Given the description of an element on the screen output the (x, y) to click on. 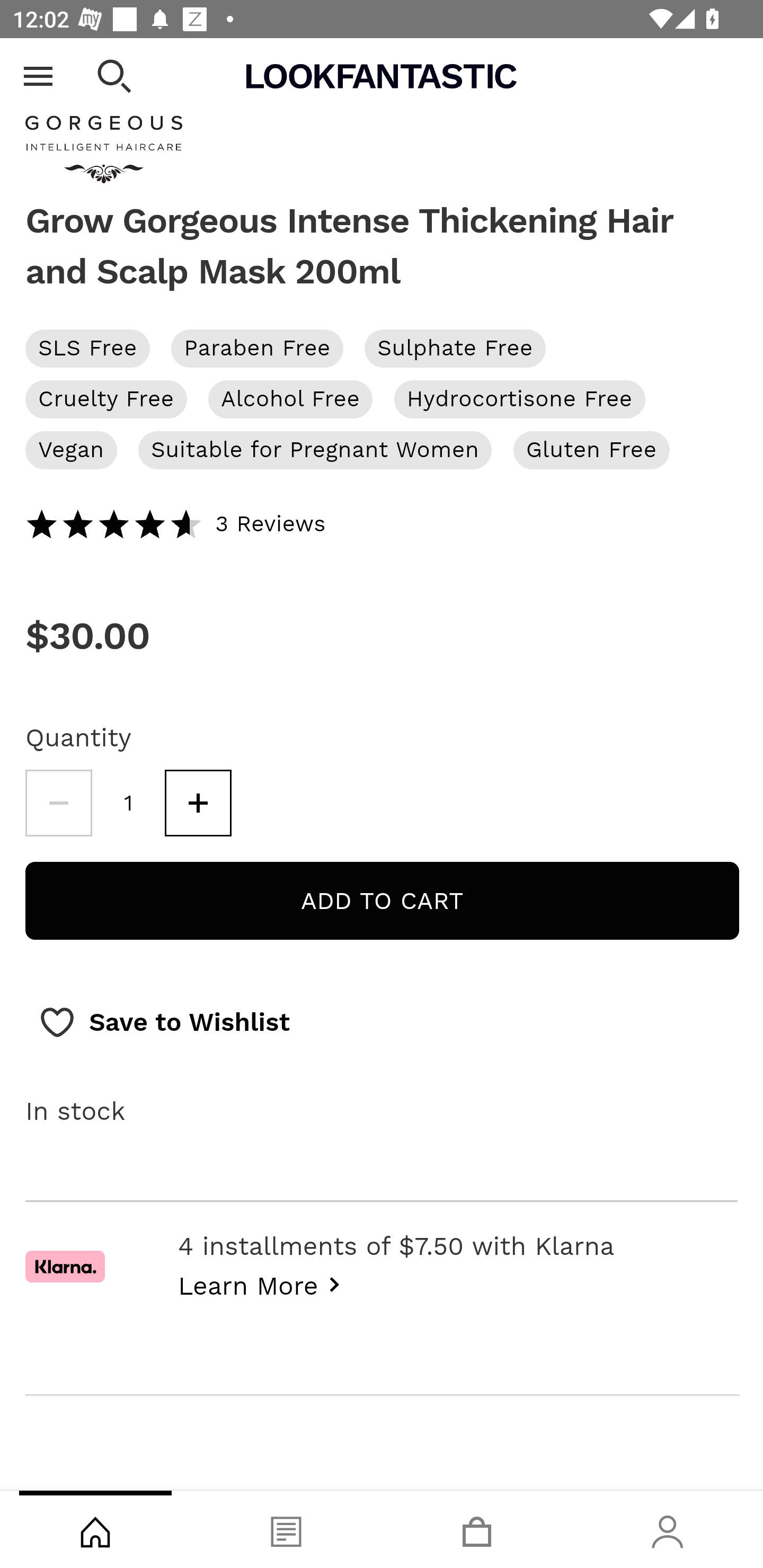
Grow Gorgeous (381, 136)
Decrease quantity (58, 803)
1, Quantity (128, 803)
Increase quantity (197, 803)
Add to cart (382, 900)
Save to Wishlist (164, 1022)
Learn More about klarna_slice (263, 1283)
Shop, tab, 1 of 4 (95, 1529)
Blog, tab, 2 of 4 (285, 1529)
Basket, tab, 3 of 4 (476, 1529)
Account, tab, 4 of 4 (667, 1529)
